Given the description of an element on the screen output the (x, y) to click on. 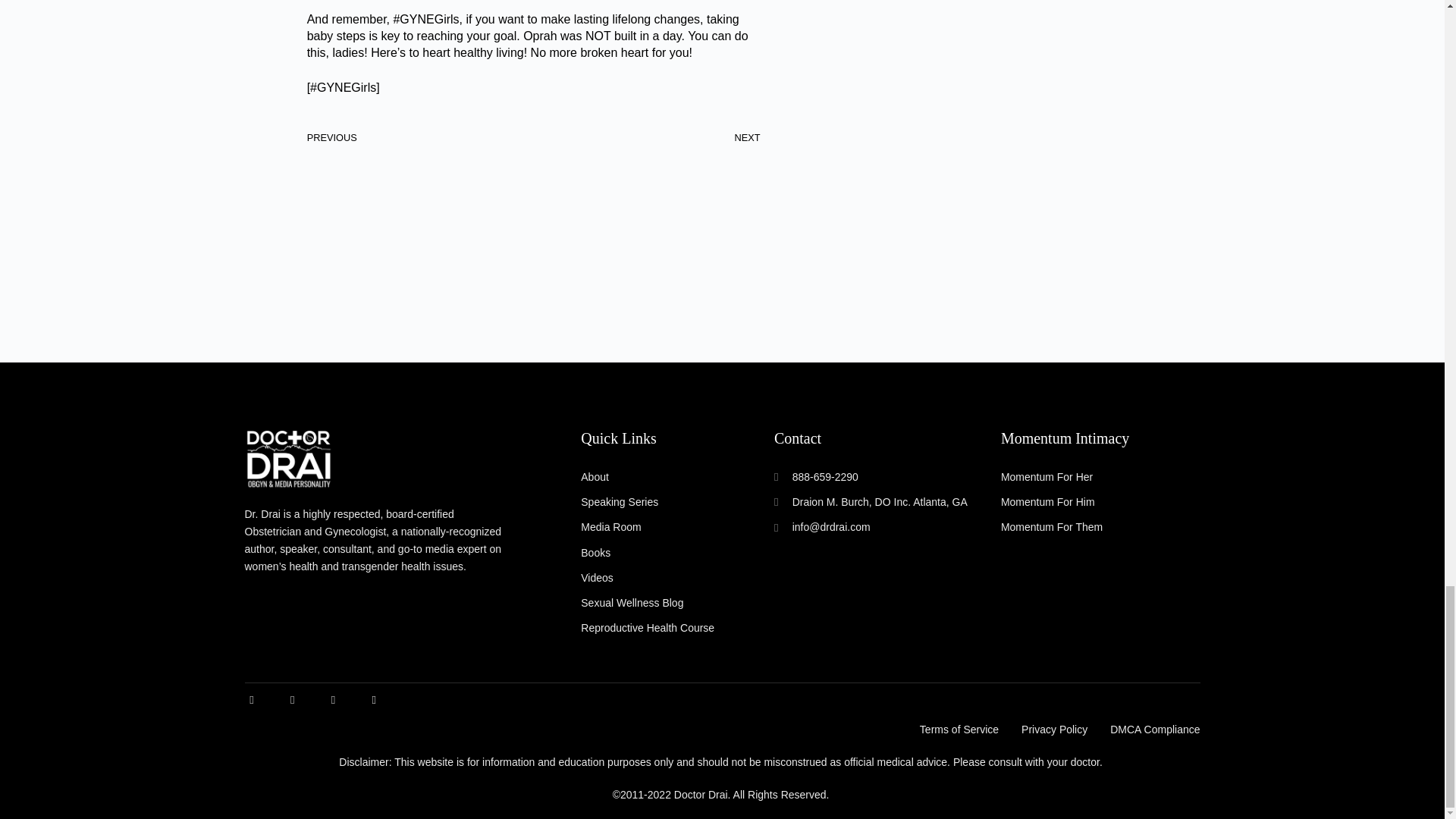
PREVIOUS (420, 137)
About (677, 477)
Books (677, 552)
Momentum Intimacy (1065, 437)
Speaking Series (677, 502)
Momentum For Him (1100, 502)
Videos (677, 578)
NEXT (647, 137)
Momentum For Them (1100, 527)
888-659-2290 (872, 477)
Sexual Wellness Blog (677, 602)
Media Room (677, 527)
Momentum For Her (1100, 477)
